Given the description of an element on the screen output the (x, y) to click on. 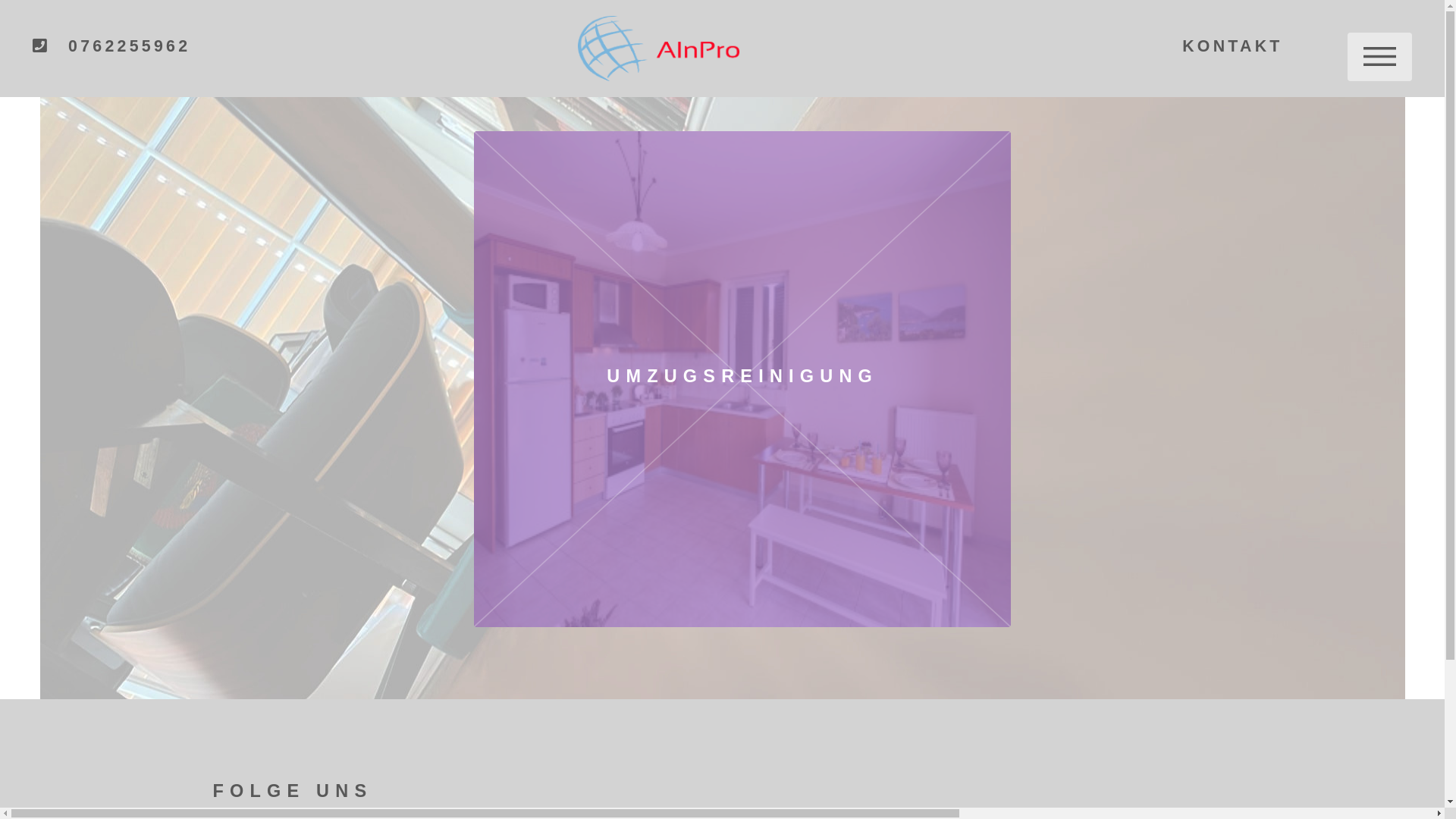
KONTAKT Element type: text (1232, 46)
MENU Element type: text (1379, 56)
0762255962 Element type: text (111, 46)
UMZUGSREINIGUNG Element type: text (742, 379)
